Given the description of an element on the screen output the (x, y) to click on. 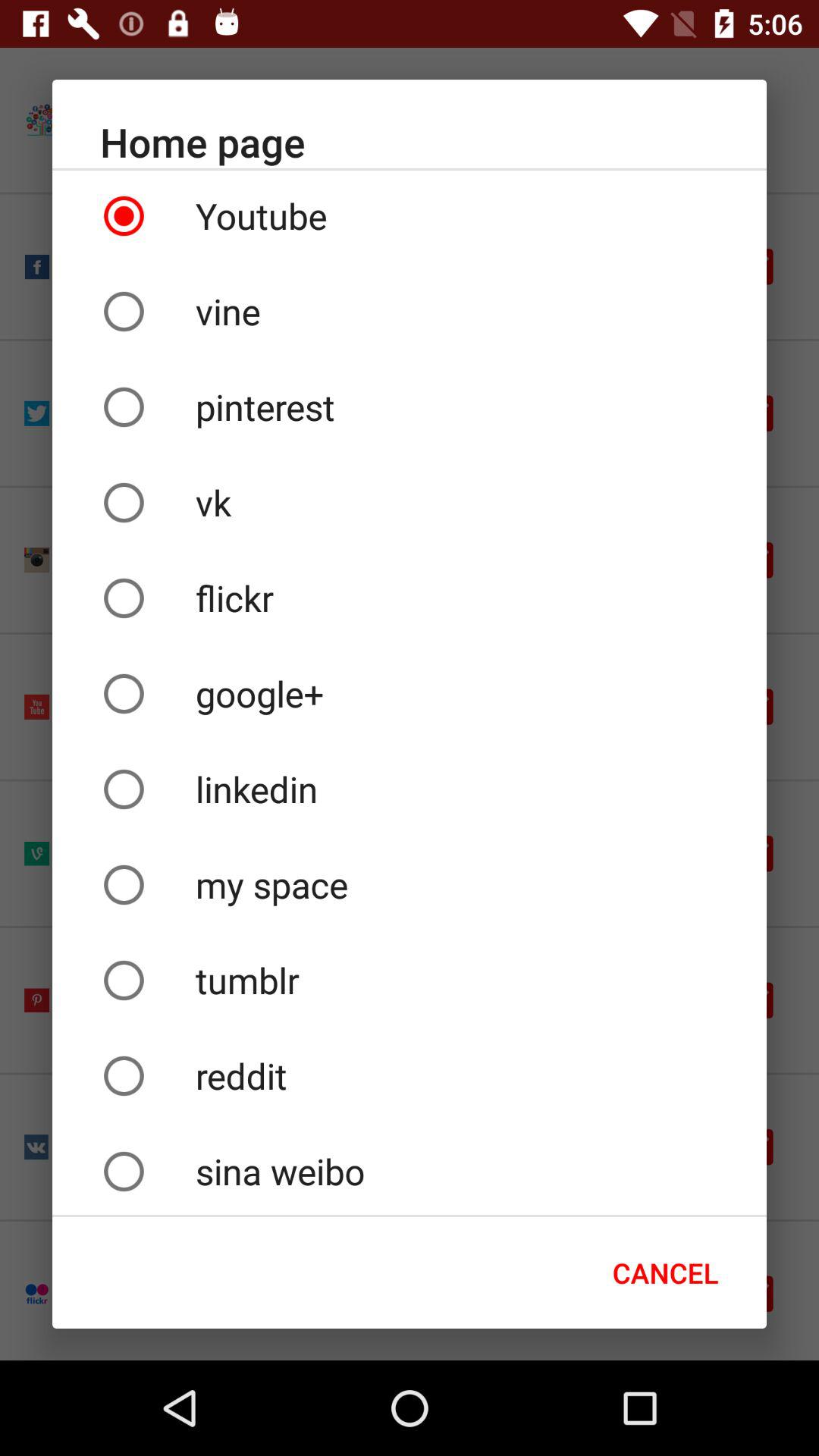
jump until the cancel (665, 1272)
